Given the description of an element on the screen output the (x, y) to click on. 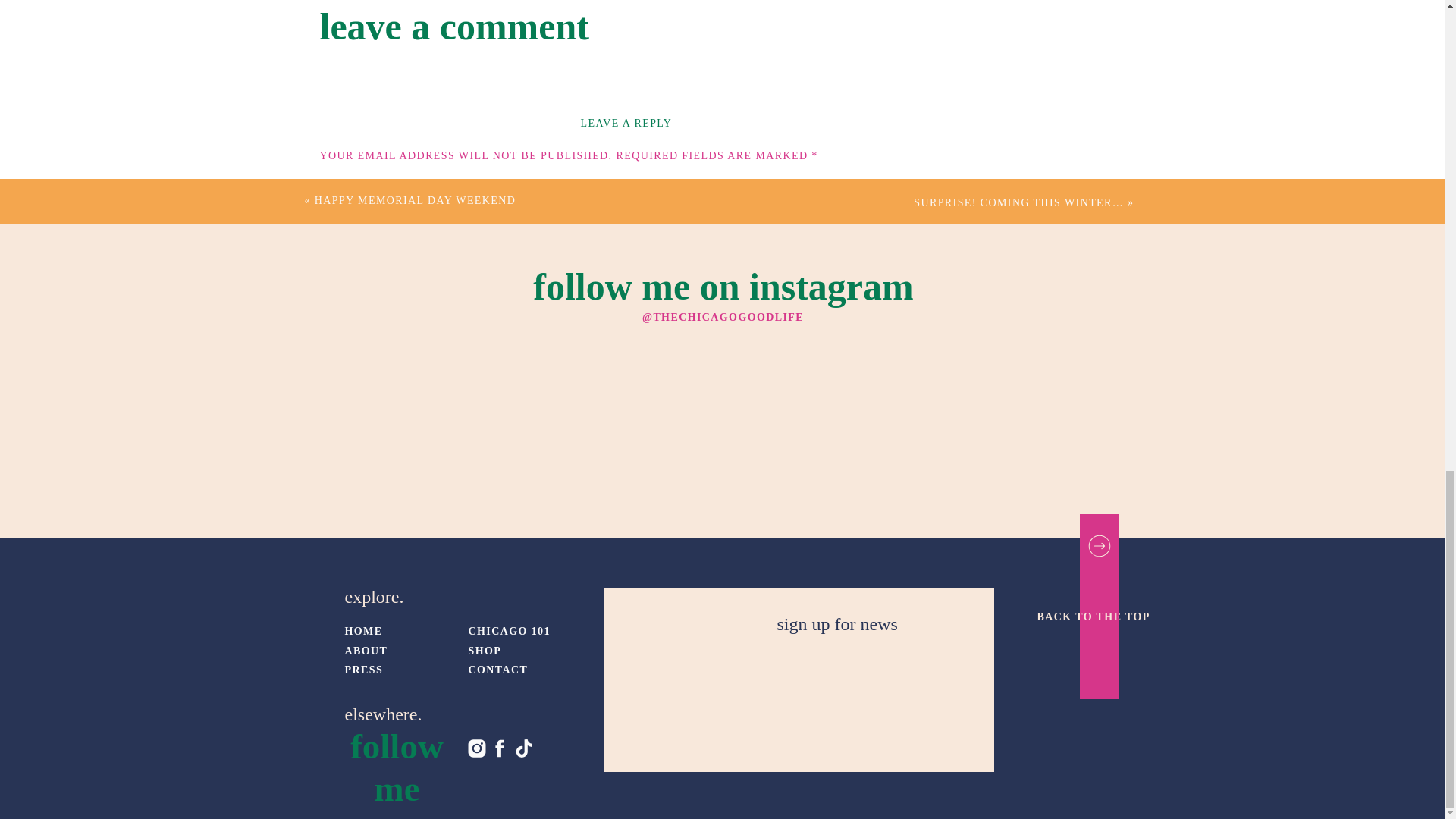
leave a comment (454, 25)
follow me on instagram (722, 276)
HAPPY MEMORIAL DAY WEEKEND (414, 200)
Post Comment (359, 600)
subscribe (328, 551)
Kentucky Mule (690, 791)
Post Comment (359, 600)
subscribe (328, 520)
